Given the description of an element on the screen output the (x, y) to click on. 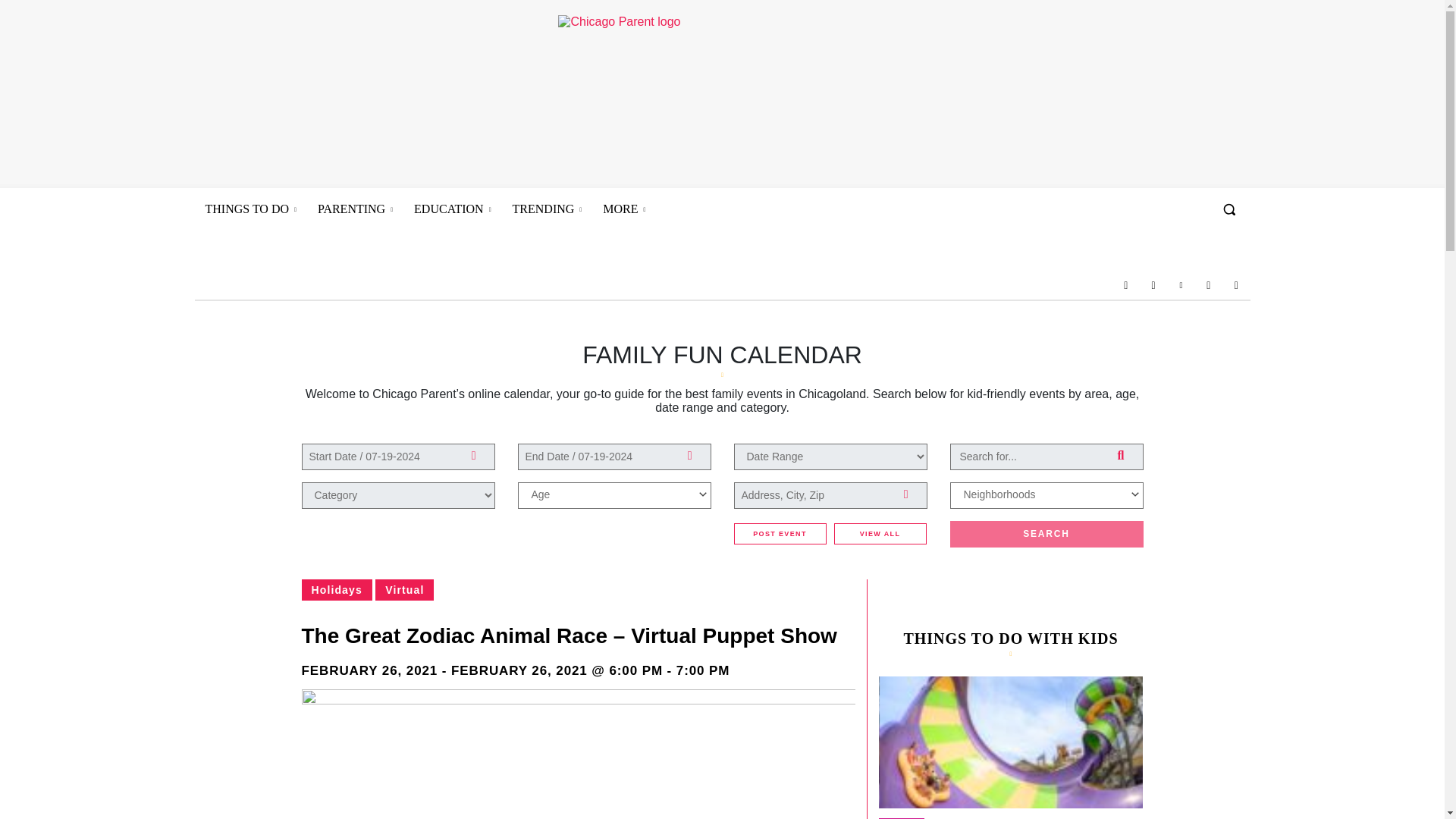
Facebook (1126, 284)
Search (1045, 533)
Instagram (1153, 284)
Pinterest (1180, 284)
Youtube (1236, 284)
Twitter (1209, 284)
